Given the description of an element on the screen output the (x, y) to click on. 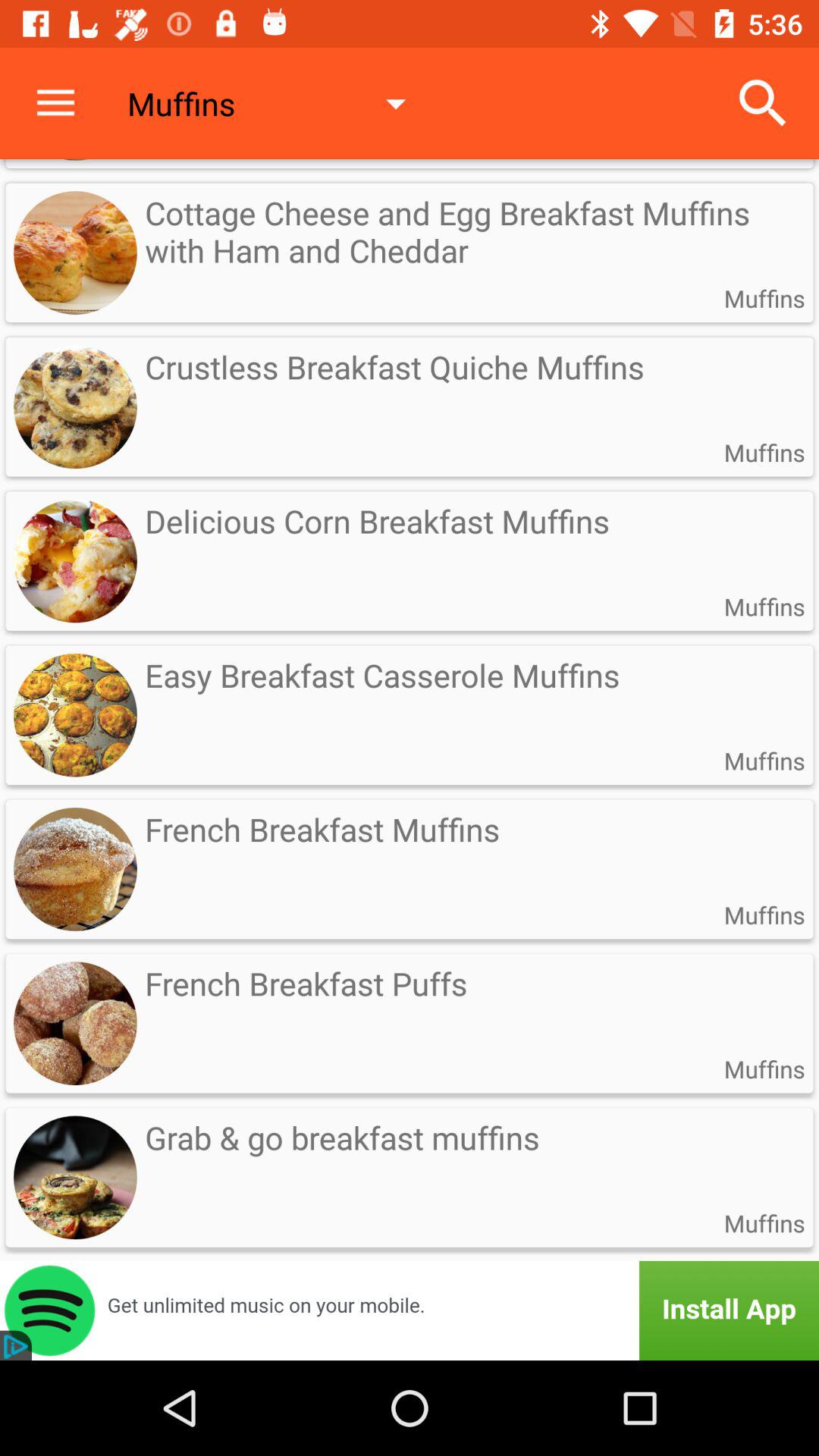
add the app (409, 1310)
